Given the description of an element on the screen output the (x, y) to click on. 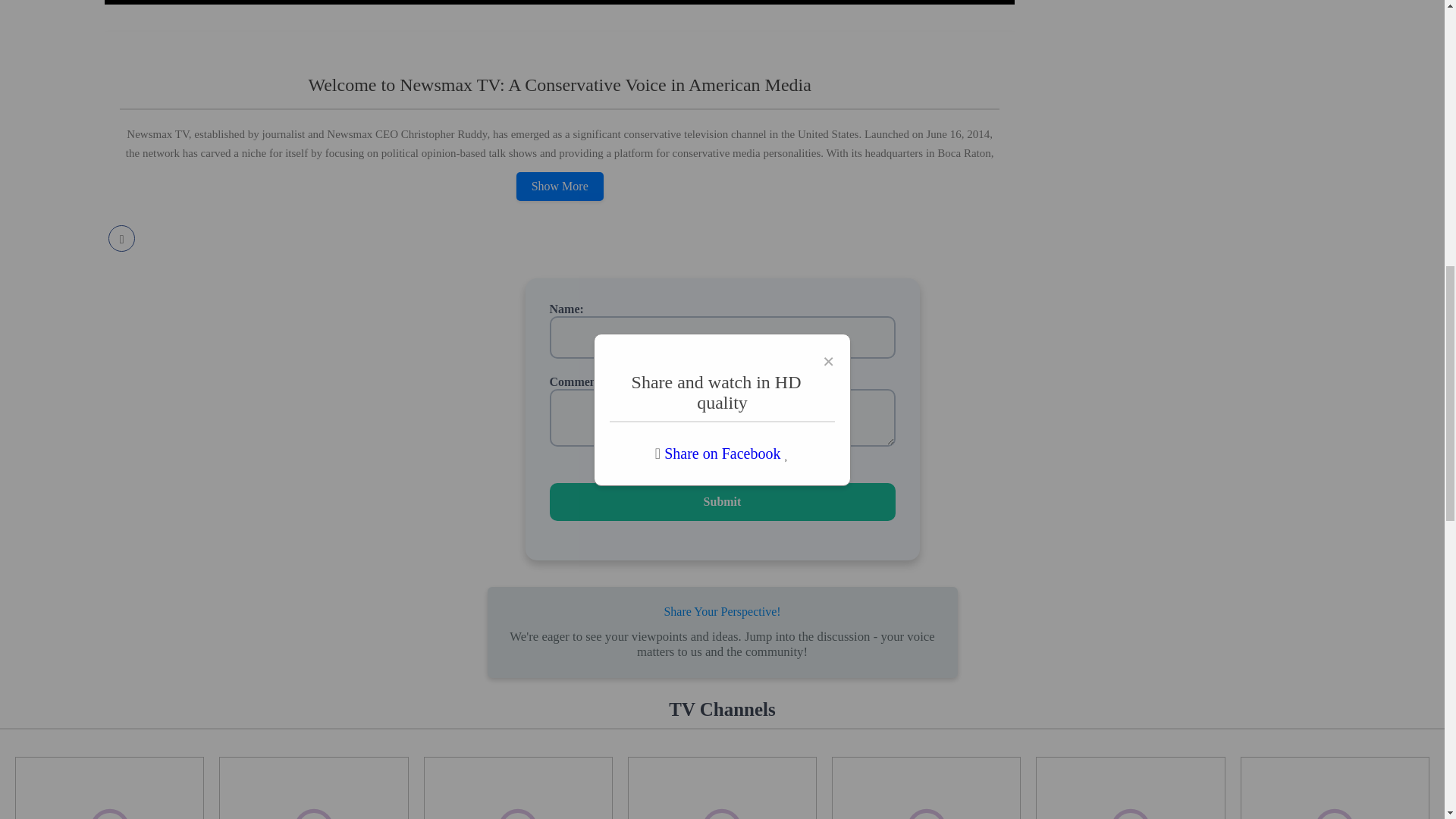
24 Kanal (721, 787)
Show More (560, 185)
Republic Bharat (313, 787)
Submit (721, 501)
Sky News (108, 787)
Aaj News (925, 787)
Submit (721, 501)
Polimer News (1334, 787)
MediaOne TV (517, 787)
